Given the description of an element on the screen output the (x, y) to click on. 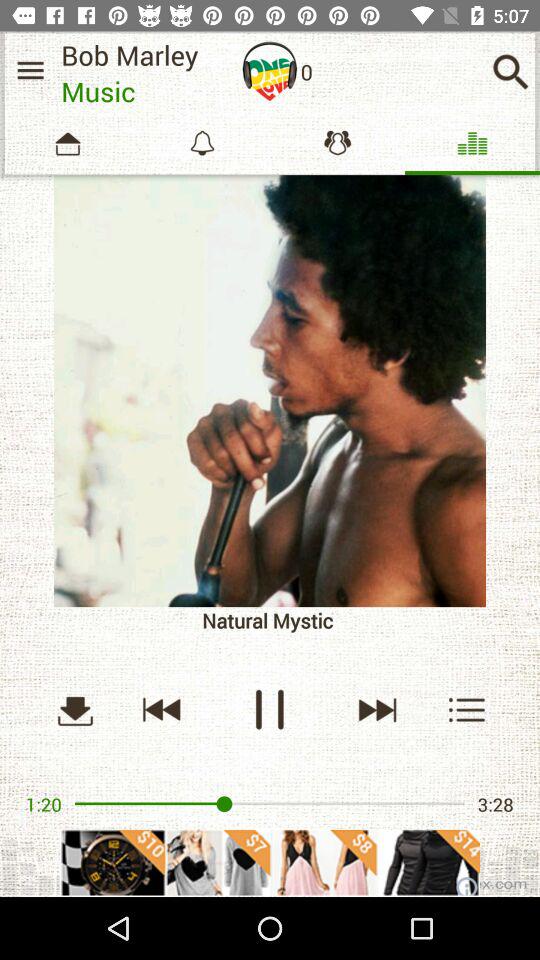
share the app (270, 862)
